Given the description of an element on the screen output the (x, y) to click on. 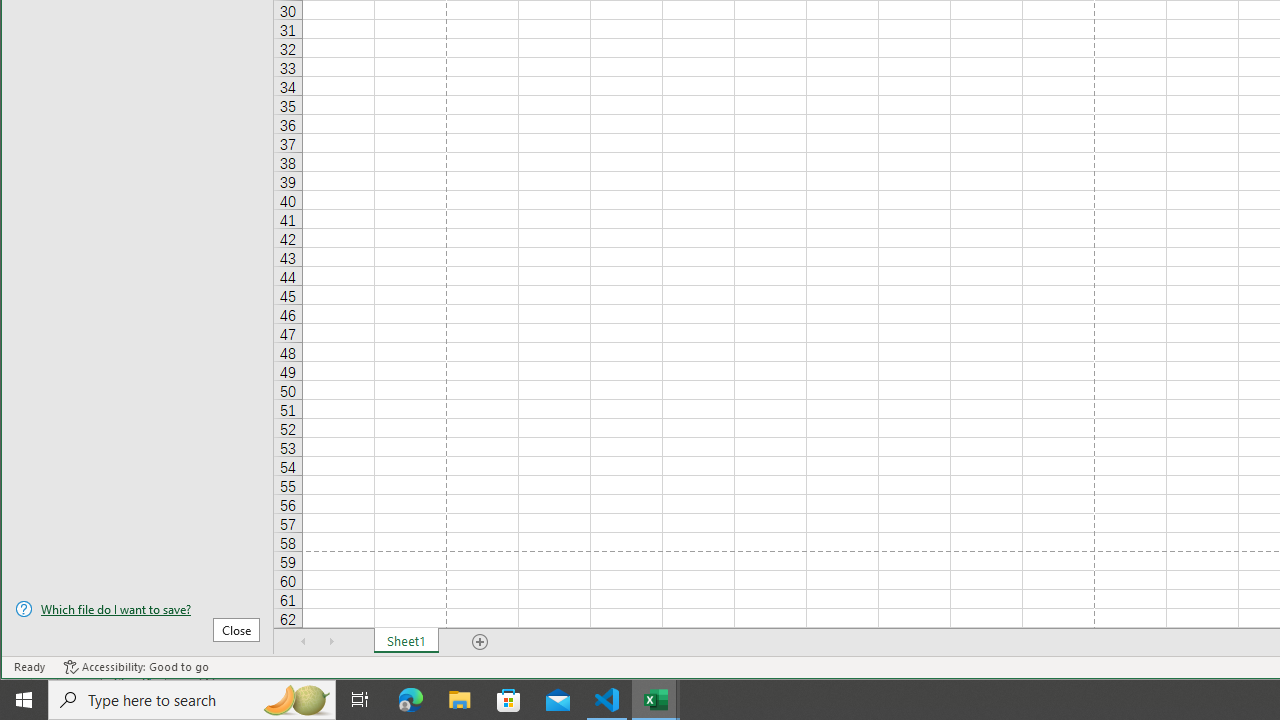
Excel - 2 running windows (656, 699)
Visual Studio Code - 1 running window (607, 699)
Microsoft Store (509, 699)
Type here to search (191, 699)
Microsoft Edge (411, 699)
Search highlights icon opens search home window (295, 699)
Task View (359, 699)
File Explorer (460, 699)
